Given the description of an element on the screen output the (x, y) to click on. 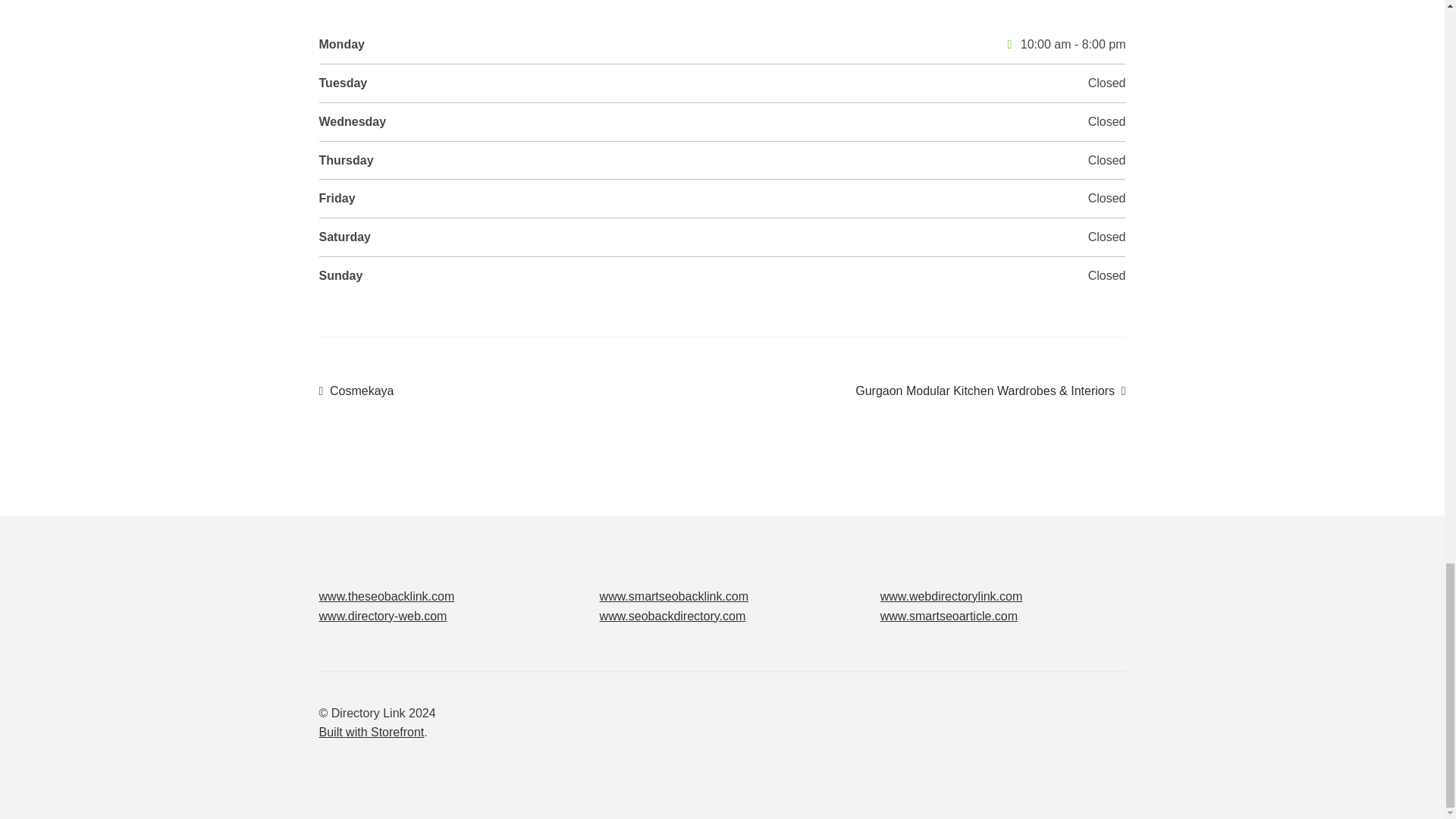
www.directory-web.com (382, 615)
Open Now (1008, 44)
www.smartseobacklink.com (674, 595)
Built with Storefront (371, 731)
www.webdirectorylink.com (951, 595)
www.theseobacklink.com (386, 595)
www.seobackdirectory.com (672, 615)
www.smartseoarticle.com (356, 391)
